Given the description of an element on the screen output the (x, y) to click on. 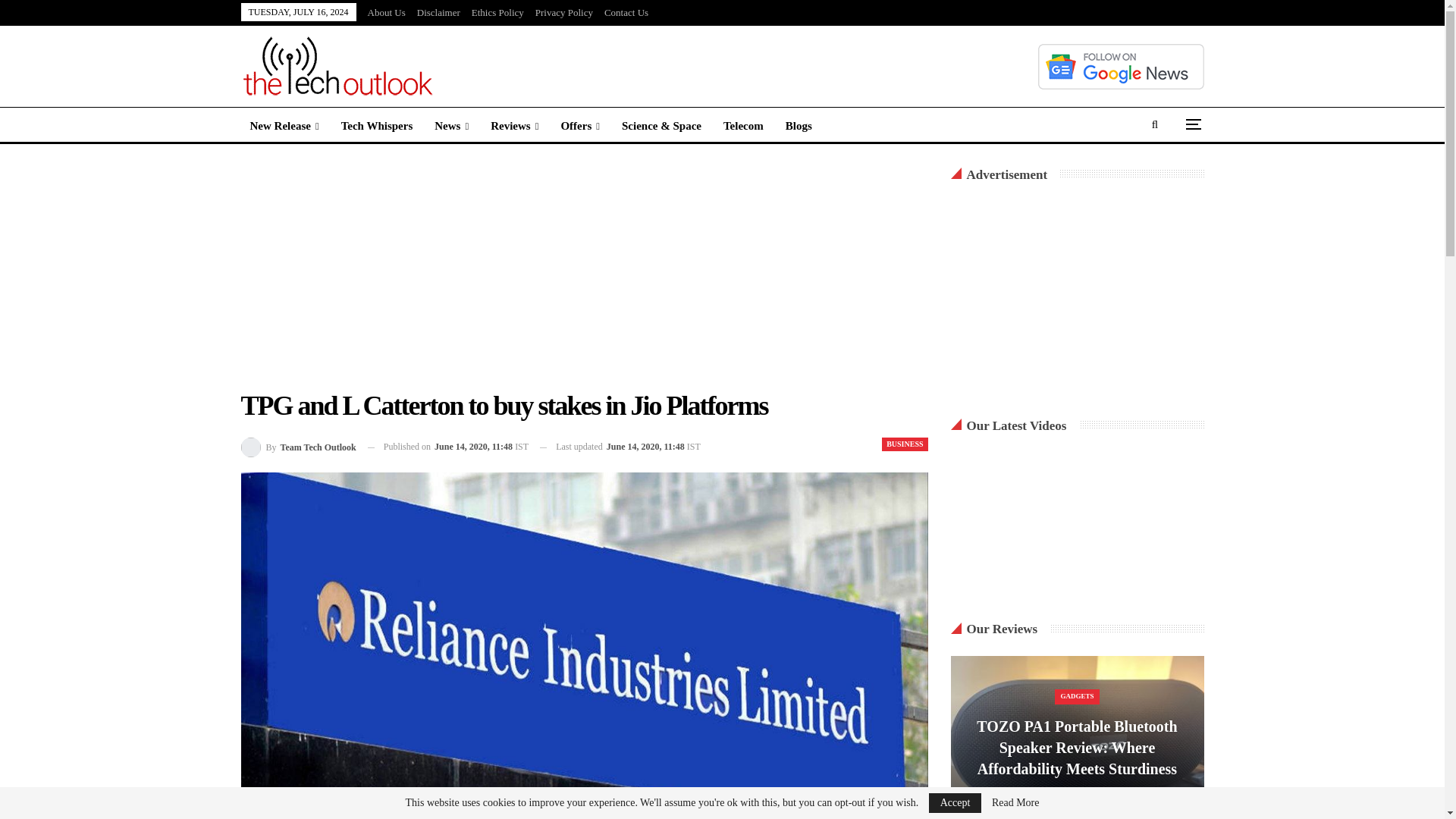
Browse Author Articles (298, 446)
